Given the description of an element on the screen output the (x, y) to click on. 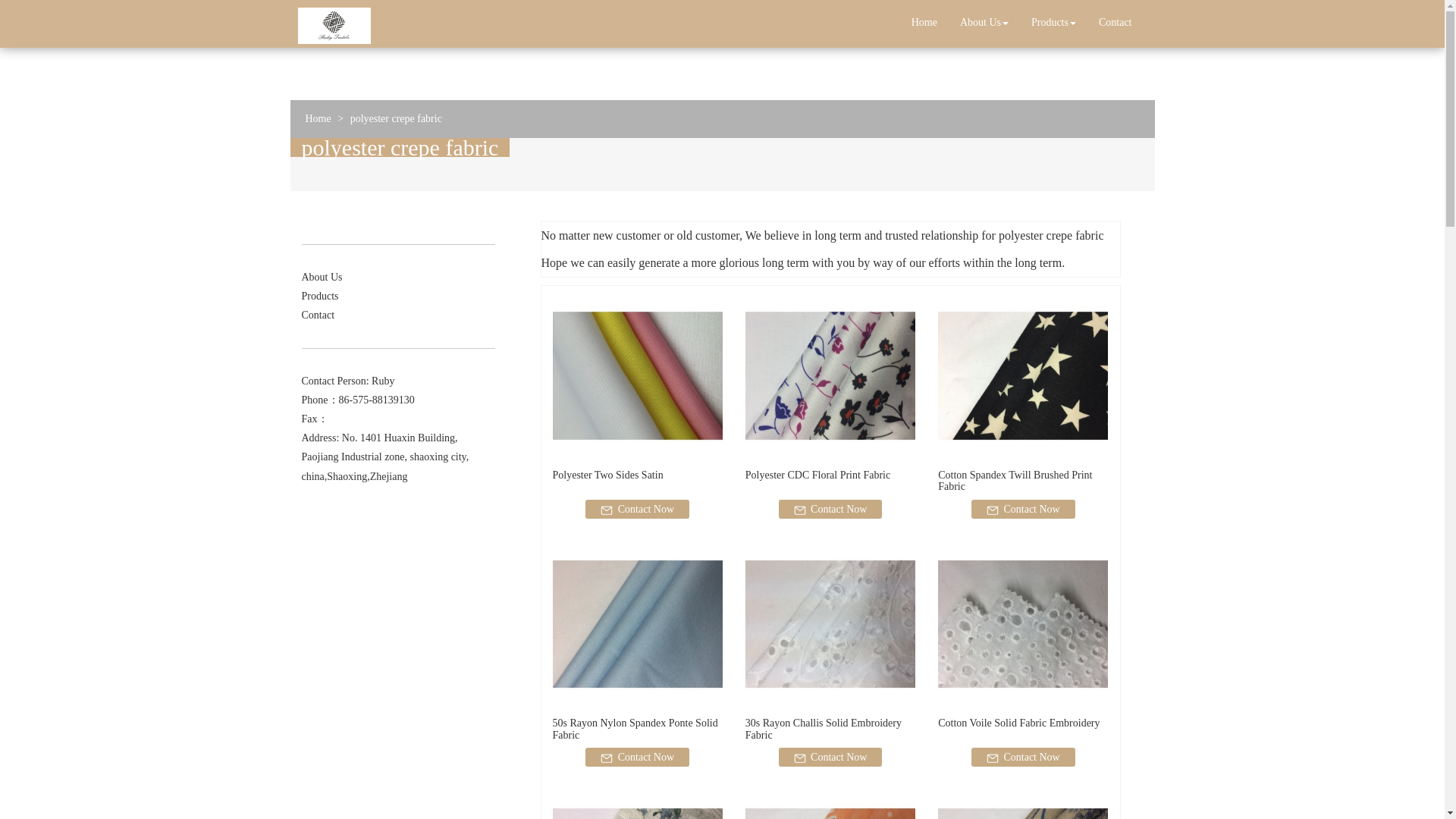
About Us (984, 22)
Products (1053, 22)
Home (924, 22)
